Given the description of an element on the screen output the (x, y) to click on. 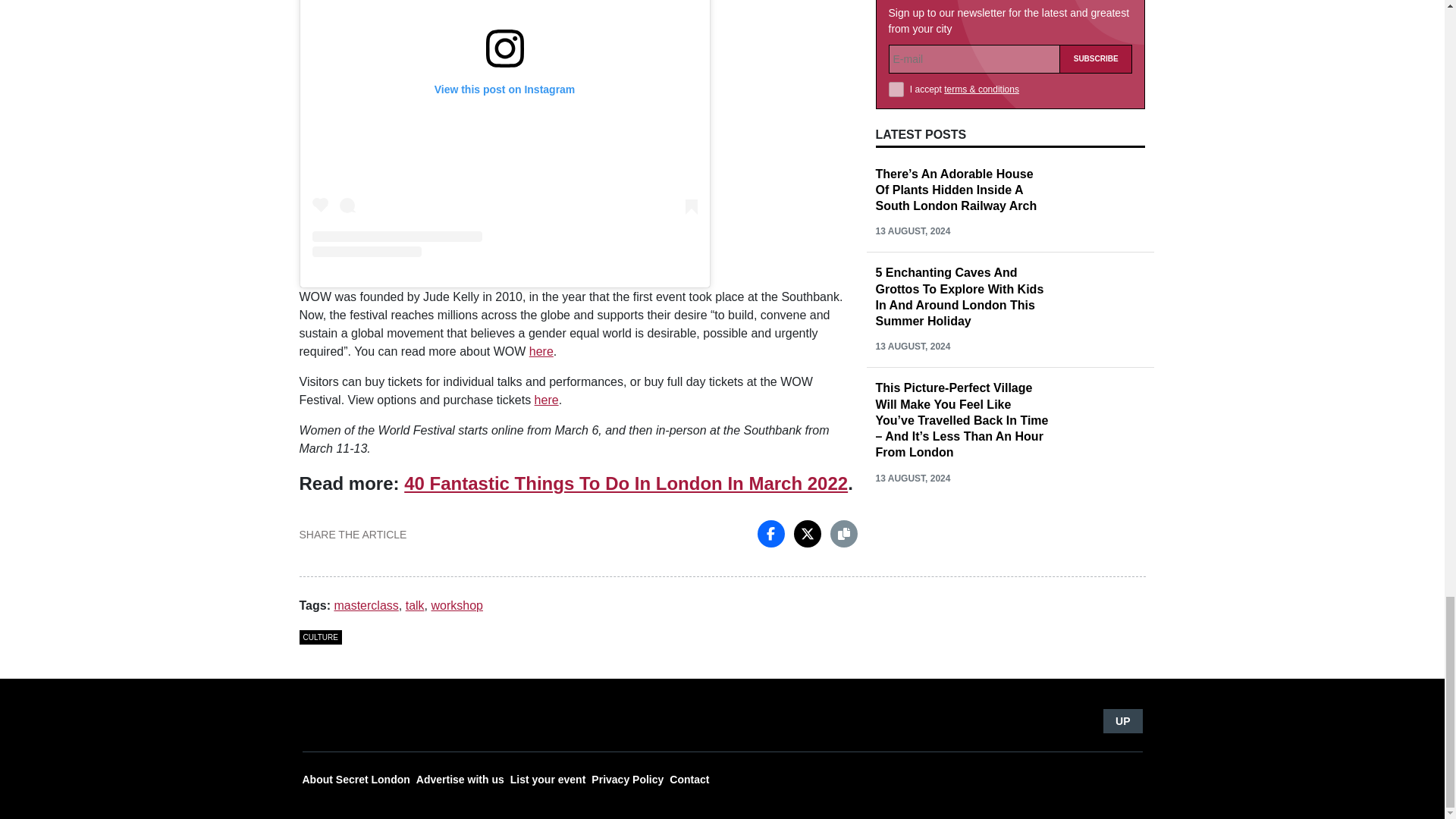
here (546, 399)
View this post on Instagram (505, 128)
here (541, 350)
40 Fantastic Things To Do In London In March 2022 (625, 483)
